Given the description of an element on the screen output the (x, y) to click on. 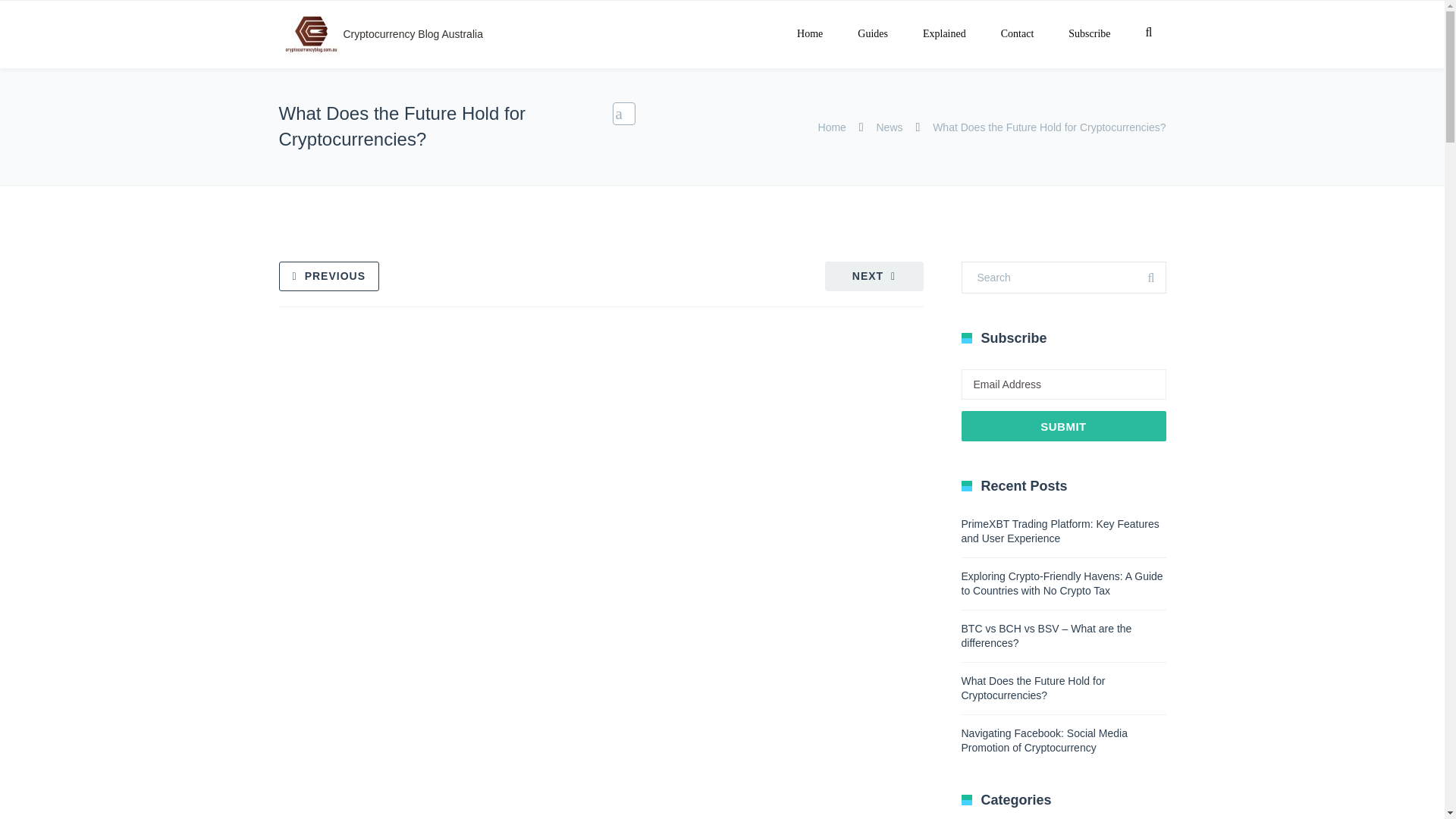
Contact (1017, 33)
News (889, 127)
Home (809, 33)
Explained (944, 33)
Home (831, 127)
Cryptocurrency Blog Australia (311, 34)
Subscribe (1088, 33)
Cryptocurrency Blog Australia (381, 33)
NEXT (874, 276)
PREVIOUS (328, 276)
